Given the description of an element on the screen output the (x, y) to click on. 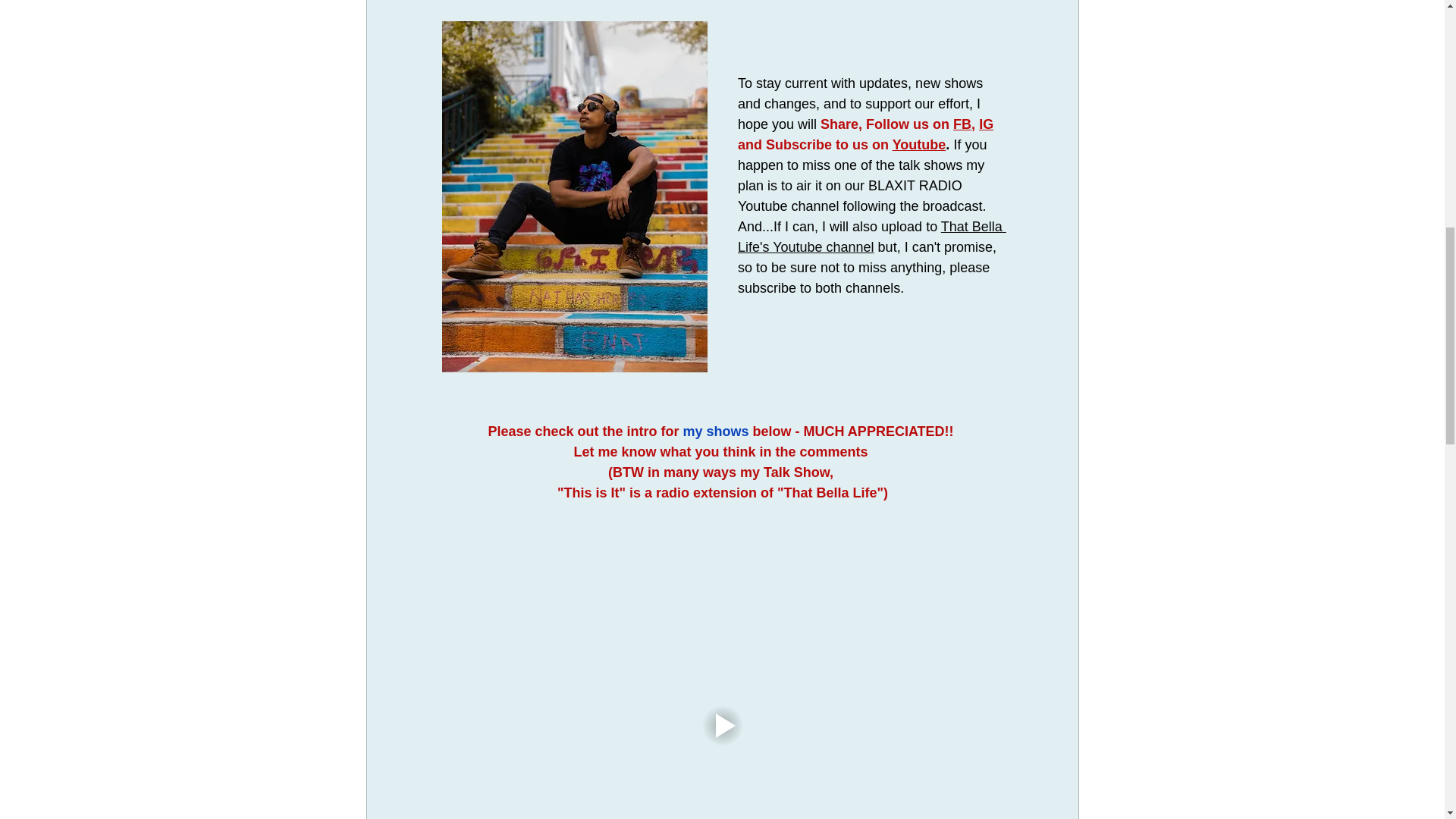
Youtube (917, 144)
IG (985, 124)
FB (962, 124)
That Bella Life's Youtube channel (871, 236)
